Given the description of an element on the screen output the (x, y) to click on. 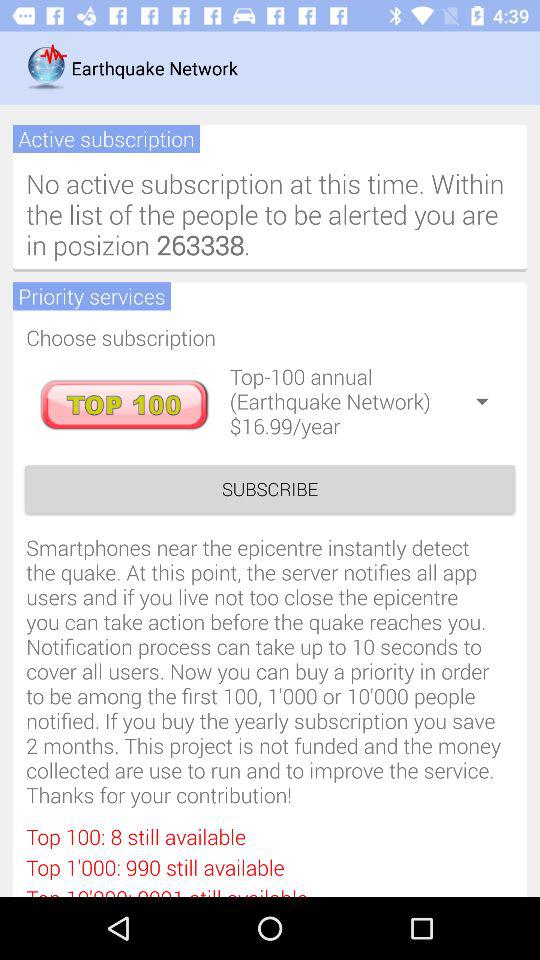
turn on icon above the smartphones near the icon (269, 488)
